Given the description of an element on the screen output the (x, y) to click on. 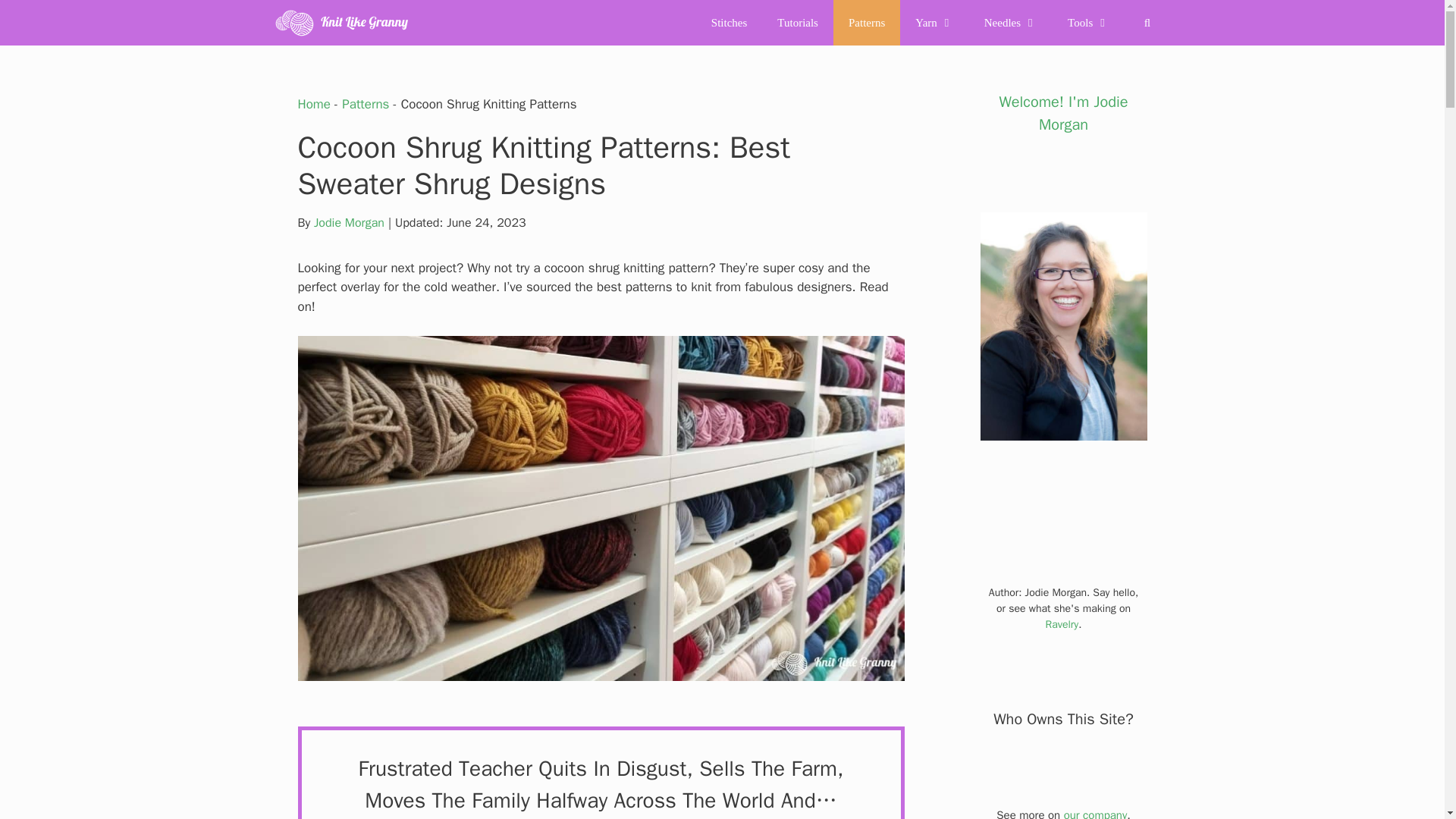
Patterns (365, 104)
Tools (1088, 22)
Stitches (728, 22)
Patterns (865, 22)
Needles (1010, 22)
Home (313, 104)
Yarn (933, 22)
Knit Like Granny (341, 22)
Jodie Morgan (349, 222)
Tutorials (796, 22)
